Given the description of an element on the screen output the (x, y) to click on. 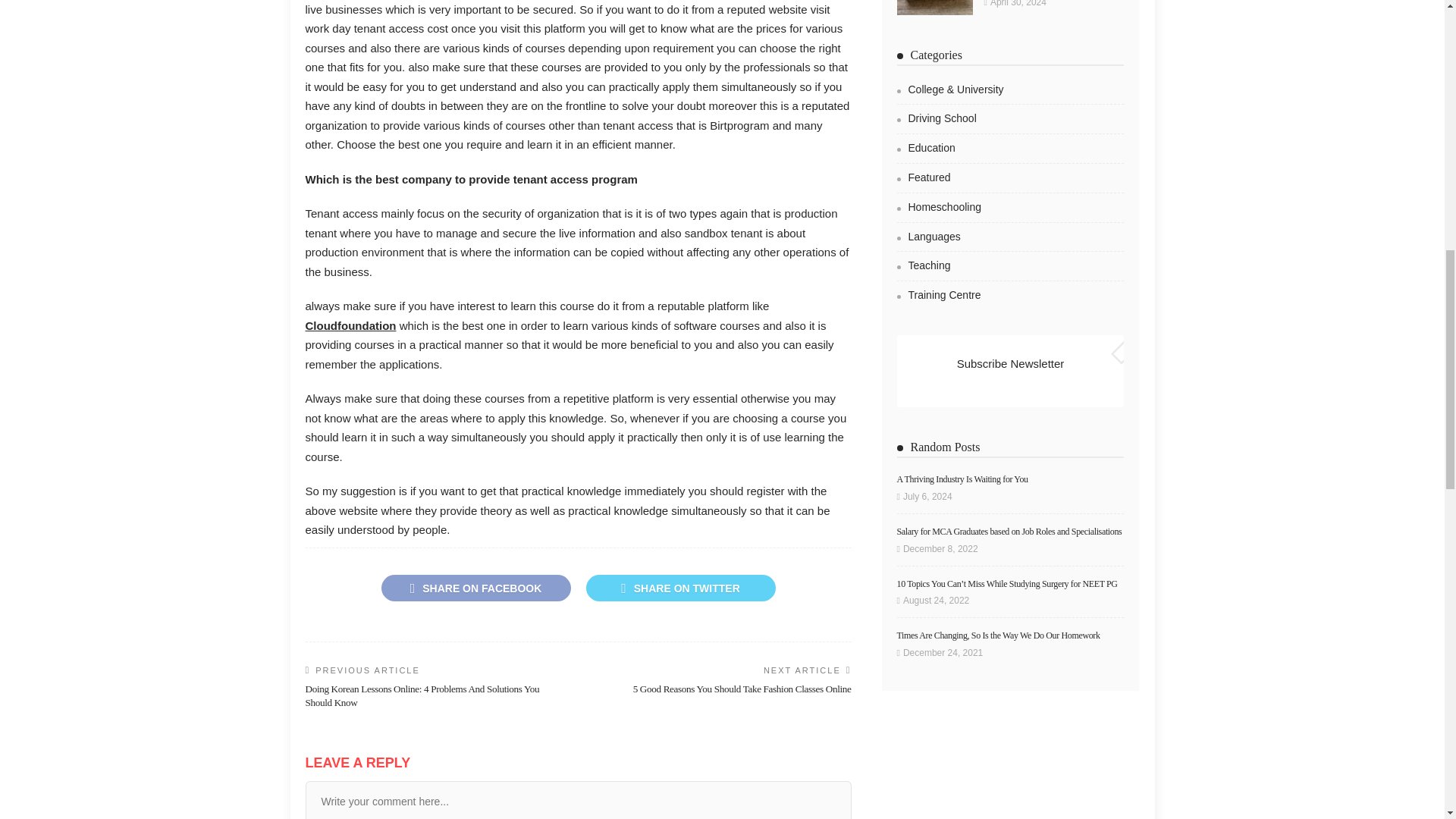
5 Good Reasons You Should Take Fashion Classes Online (742, 688)
SHARE ON FACEBOOK (475, 587)
SHARE ON TWITTER (679, 587)
5 Good Reasons You Should Take Fashion Classes Online (742, 688)
Cloudfoundation (350, 325)
